Given the description of an element on the screen output the (x, y) to click on. 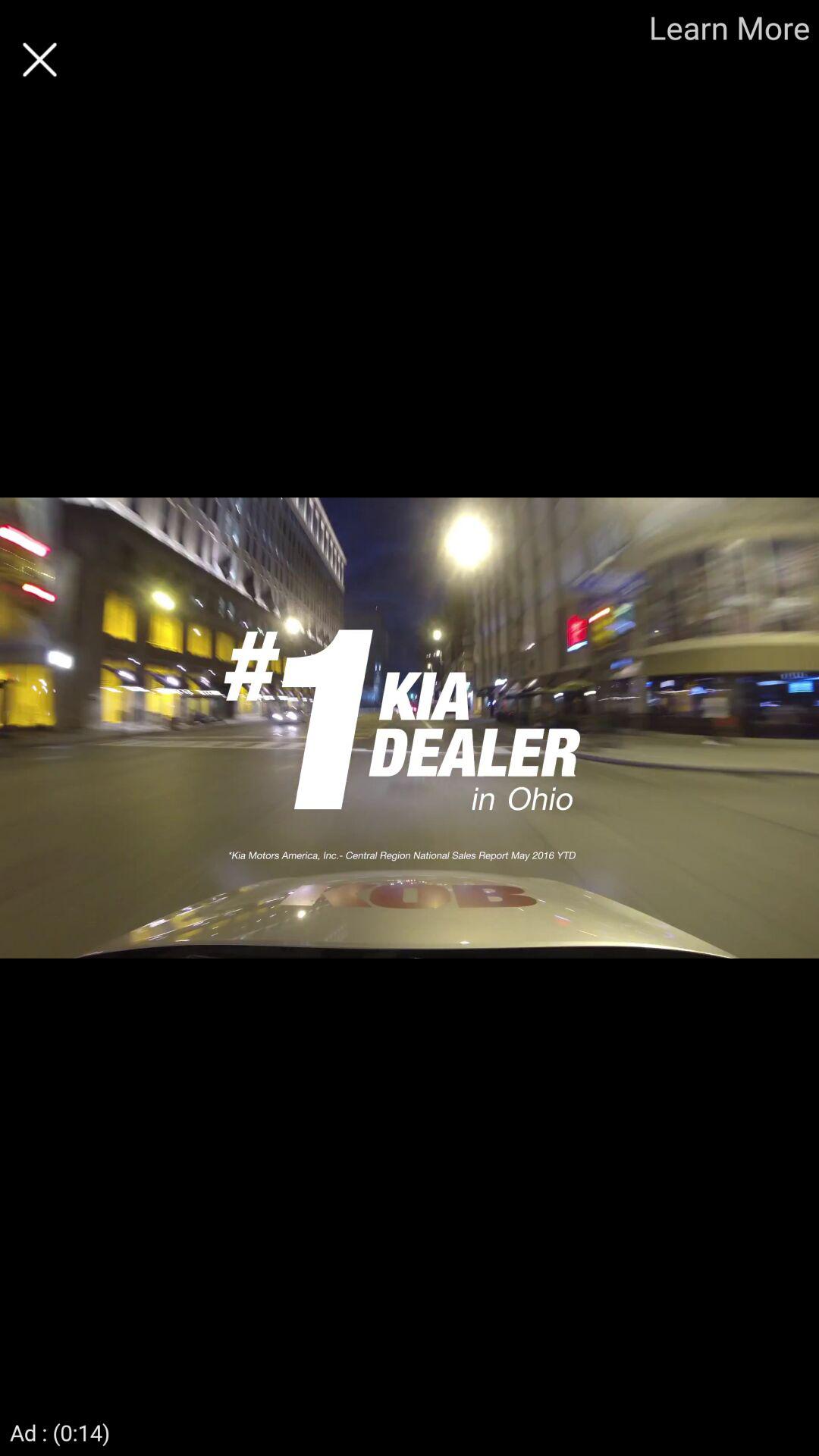
close out screen (39, 59)
